Given the description of an element on the screen output the (x, y) to click on. 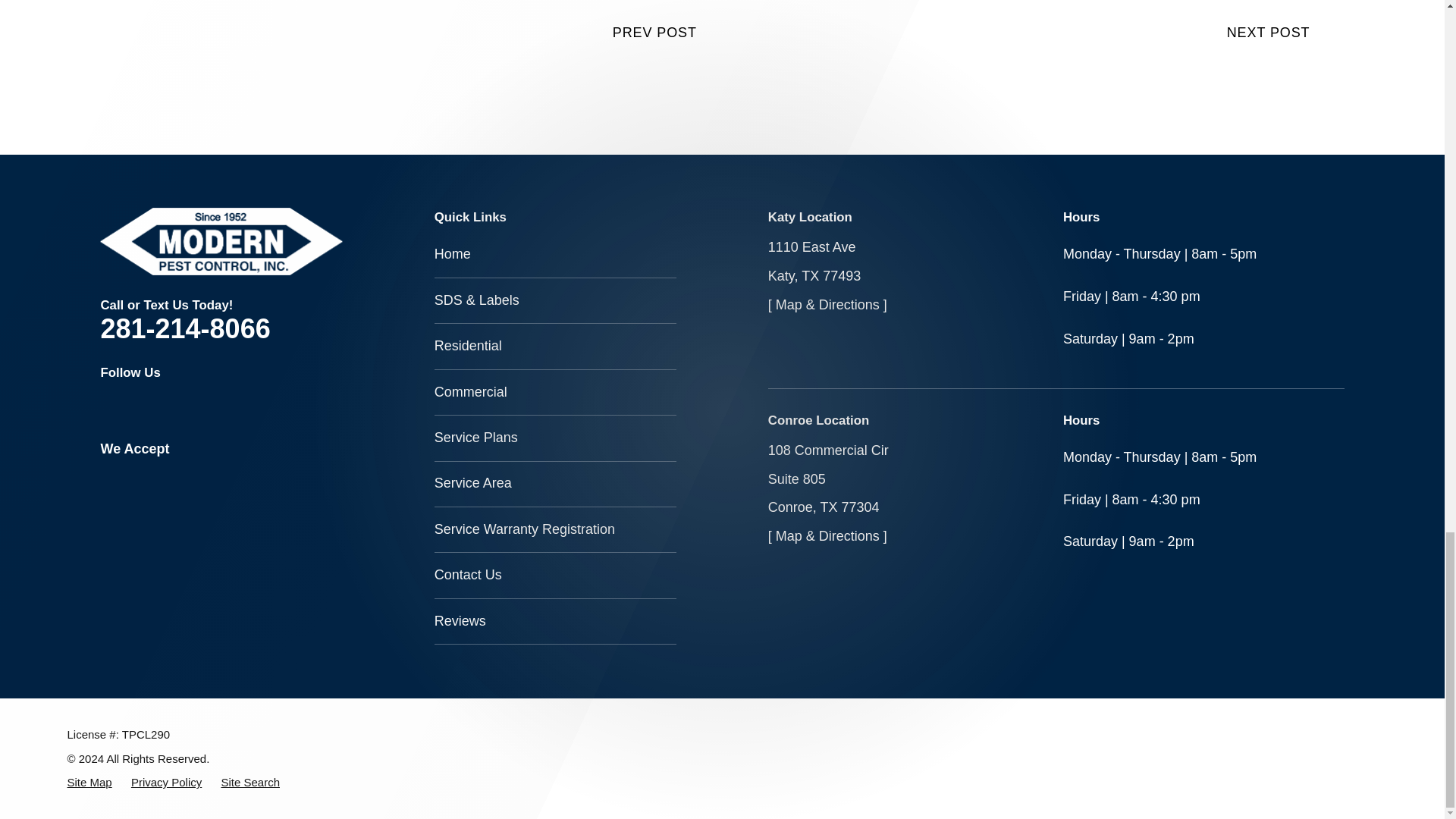
Home (221, 241)
Facebook (109, 404)
Discover (209, 473)
Nextdoor (209, 404)
Cash (241, 473)
Twitter (142, 404)
Visa (109, 473)
AMEX (142, 473)
Google Business Profile (176, 404)
MasterCard (176, 473)
